Given the description of an element on the screen output the (x, y) to click on. 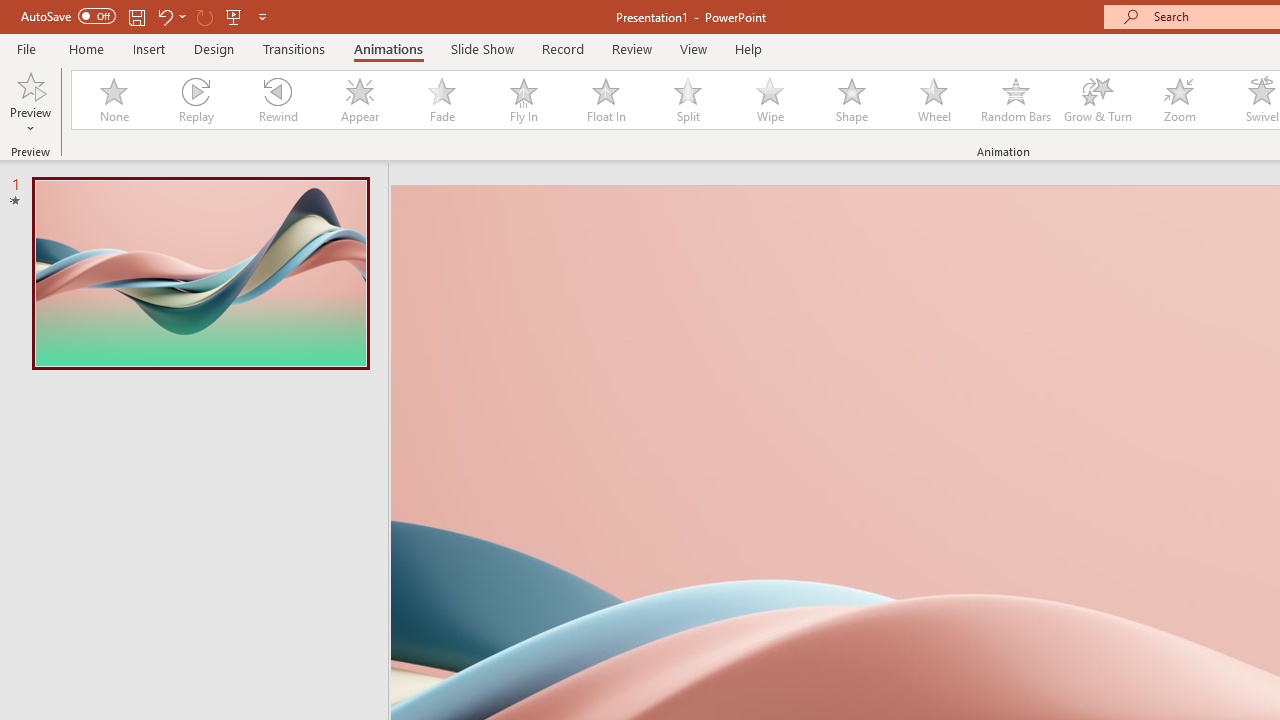
Wipe (770, 100)
Fade (441, 100)
Random Bars (1016, 100)
Float In (605, 100)
Split (687, 100)
